Given the description of an element on the screen output the (x, y) to click on. 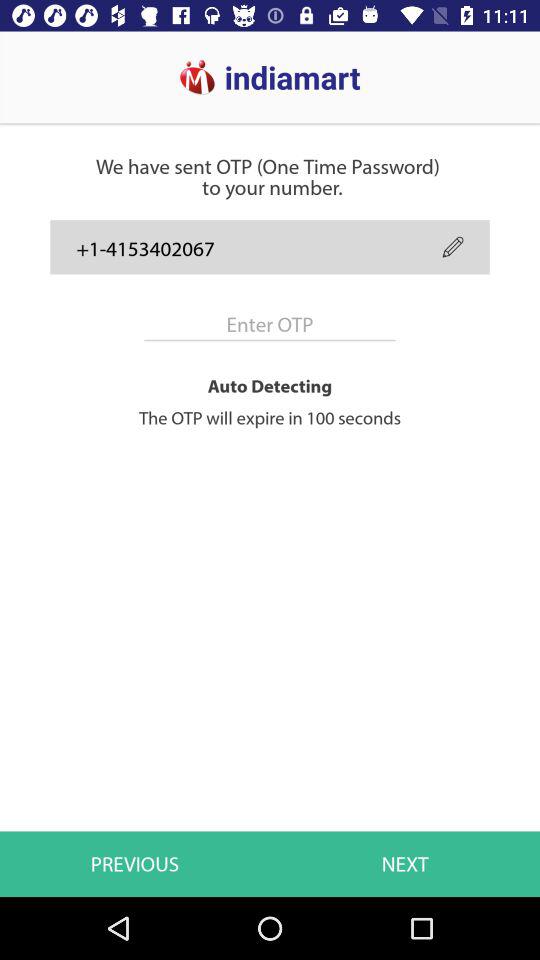
choose the icon below +1-4153402067 item (269, 324)
